Given the description of an element on the screen output the (x, y) to click on. 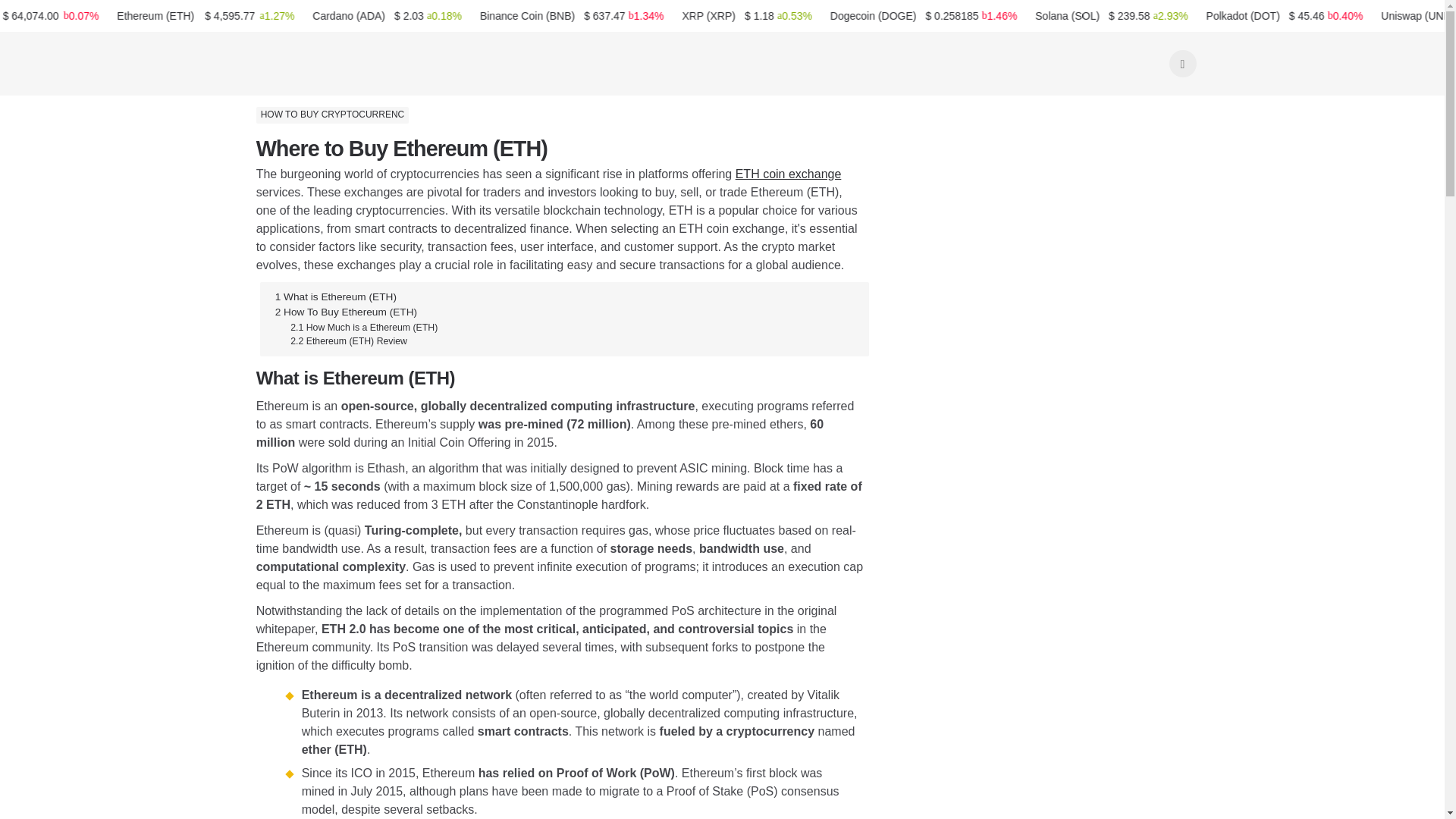
ETH coin exchange (788, 173)
HOW TO BUY CRYPTOCURRENC (332, 114)
